Given the description of an element on the screen output the (x, y) to click on. 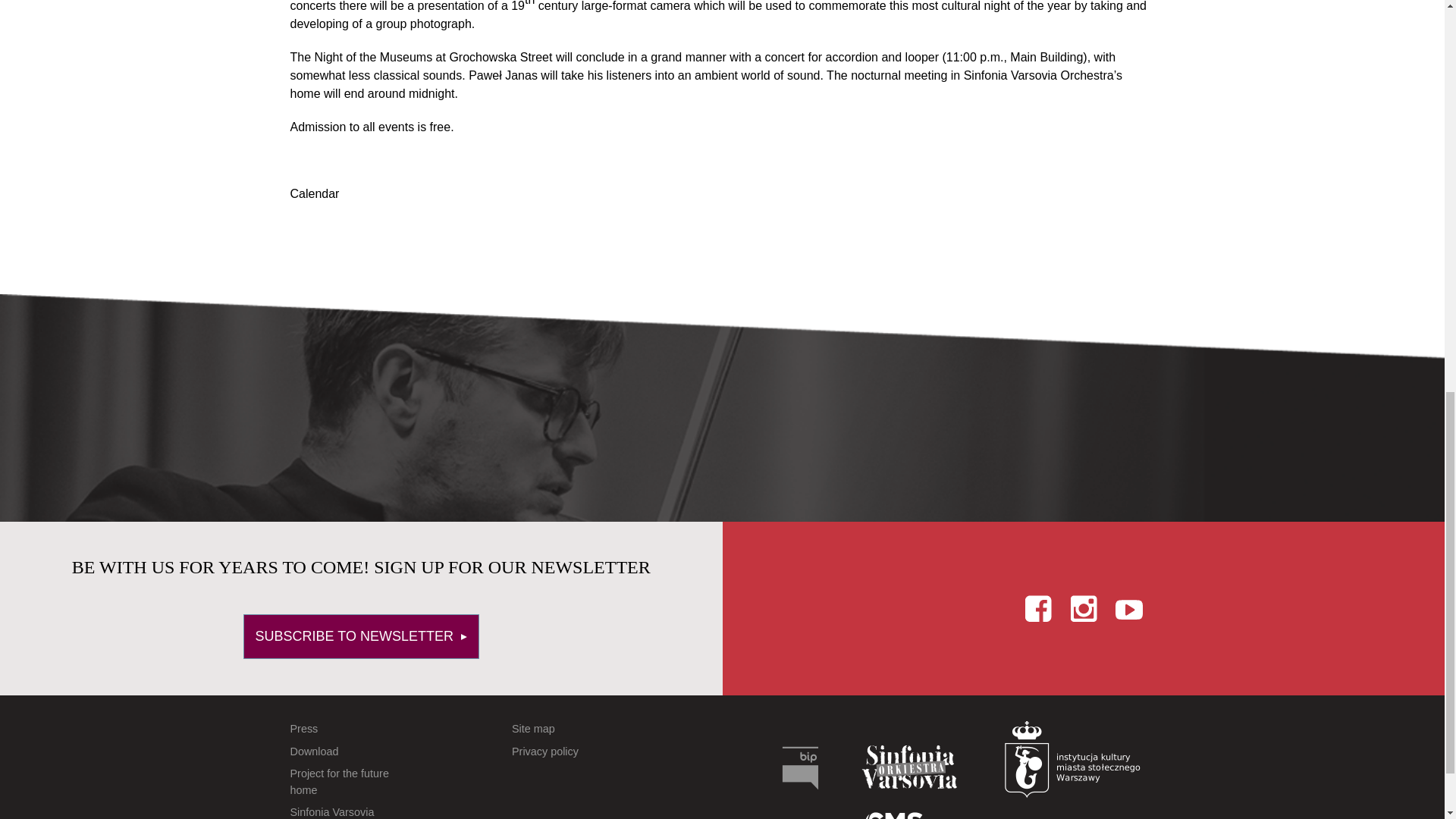
Open youtube in new window (1128, 607)
Open facebook fanpage in new window (1037, 607)
Calendar (314, 193)
Open instagram in new window (1083, 607)
